Given the description of an element on the screen output the (x, y) to click on. 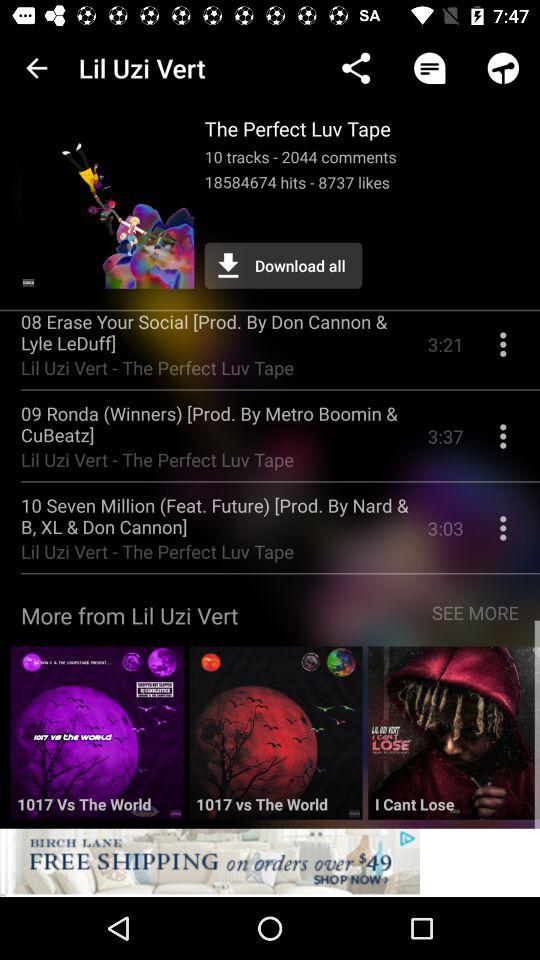
open item next to lil uzi vert icon (36, 68)
